Given the description of an element on the screen output the (x, y) to click on. 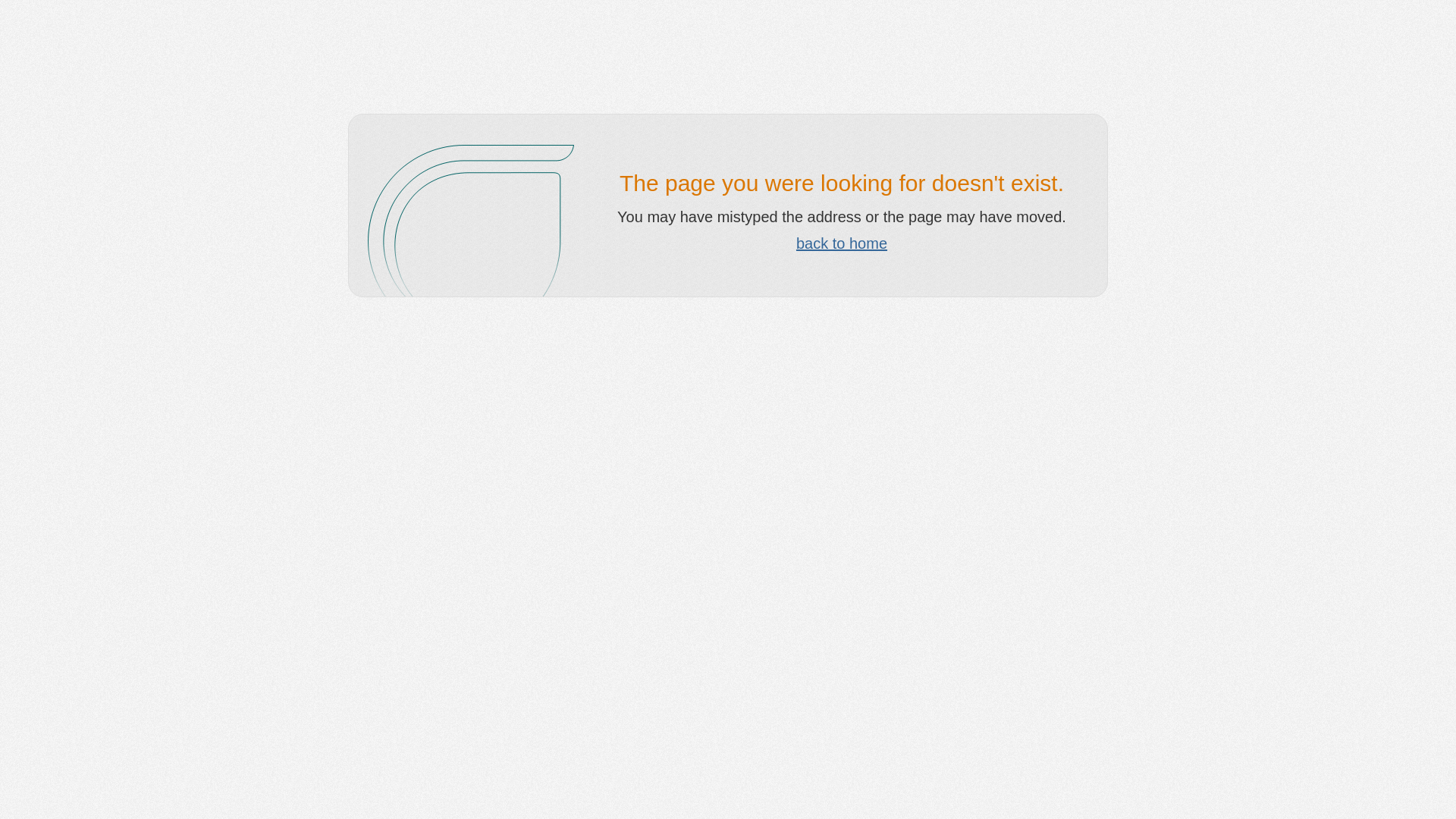
back to home Element type: text (841, 243)
